Given the description of an element on the screen output the (x, y) to click on. 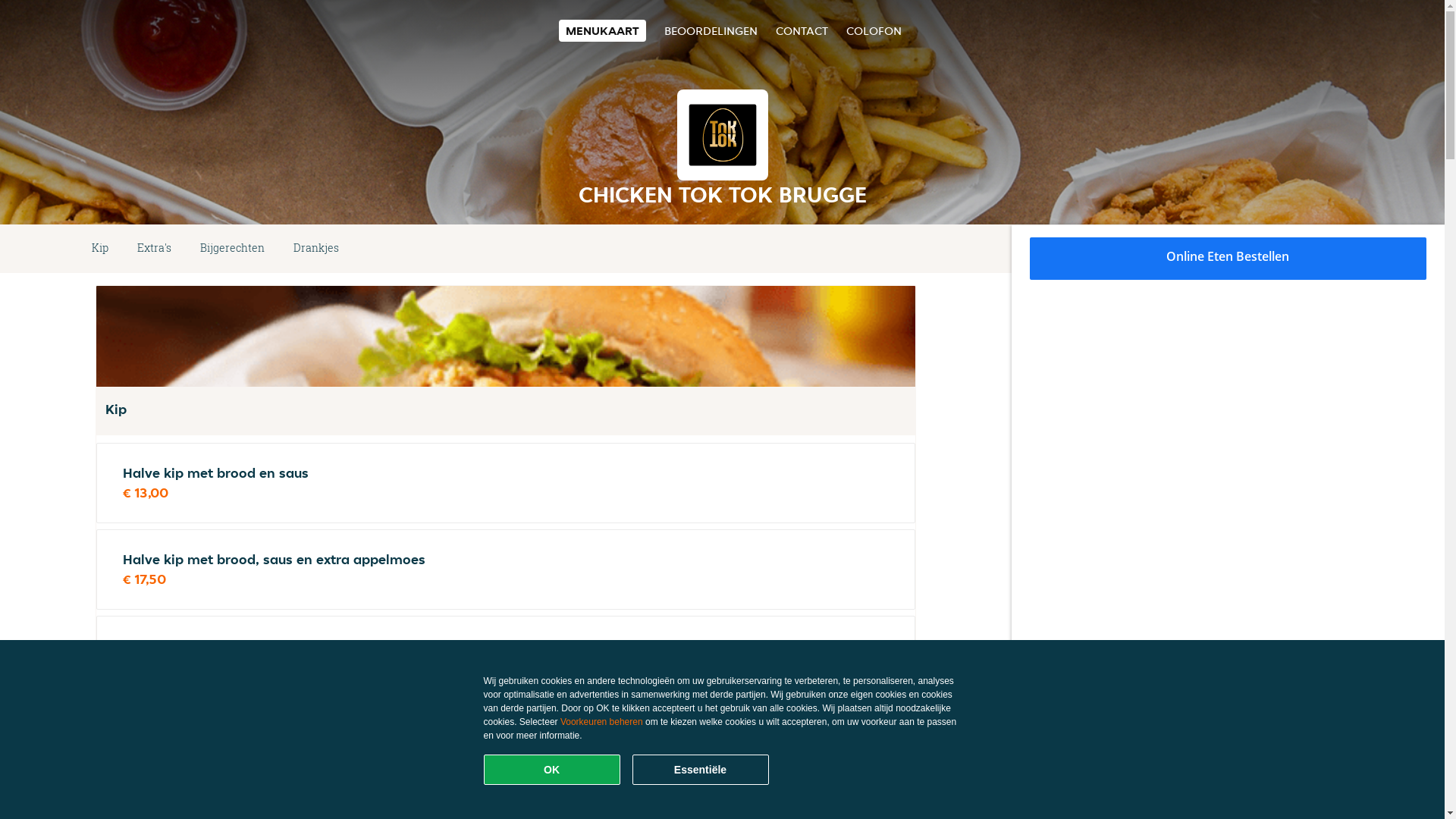
Drankjes Element type: text (316, 248)
COLOFON Element type: text (873, 30)
Extra's Element type: text (153, 248)
Online Eten Bestellen Element type: text (1228, 258)
CONTACT Element type: text (801, 30)
Voorkeuren beheren Element type: text (601, 721)
MENUKAART Element type: text (601, 30)
BEOORDELINGEN Element type: text (710, 30)
OK Element type: text (551, 769)
Bijgerechten Element type: text (232, 248)
Kip Element type: text (99, 248)
